Given the description of an element on the screen output the (x, y) to click on. 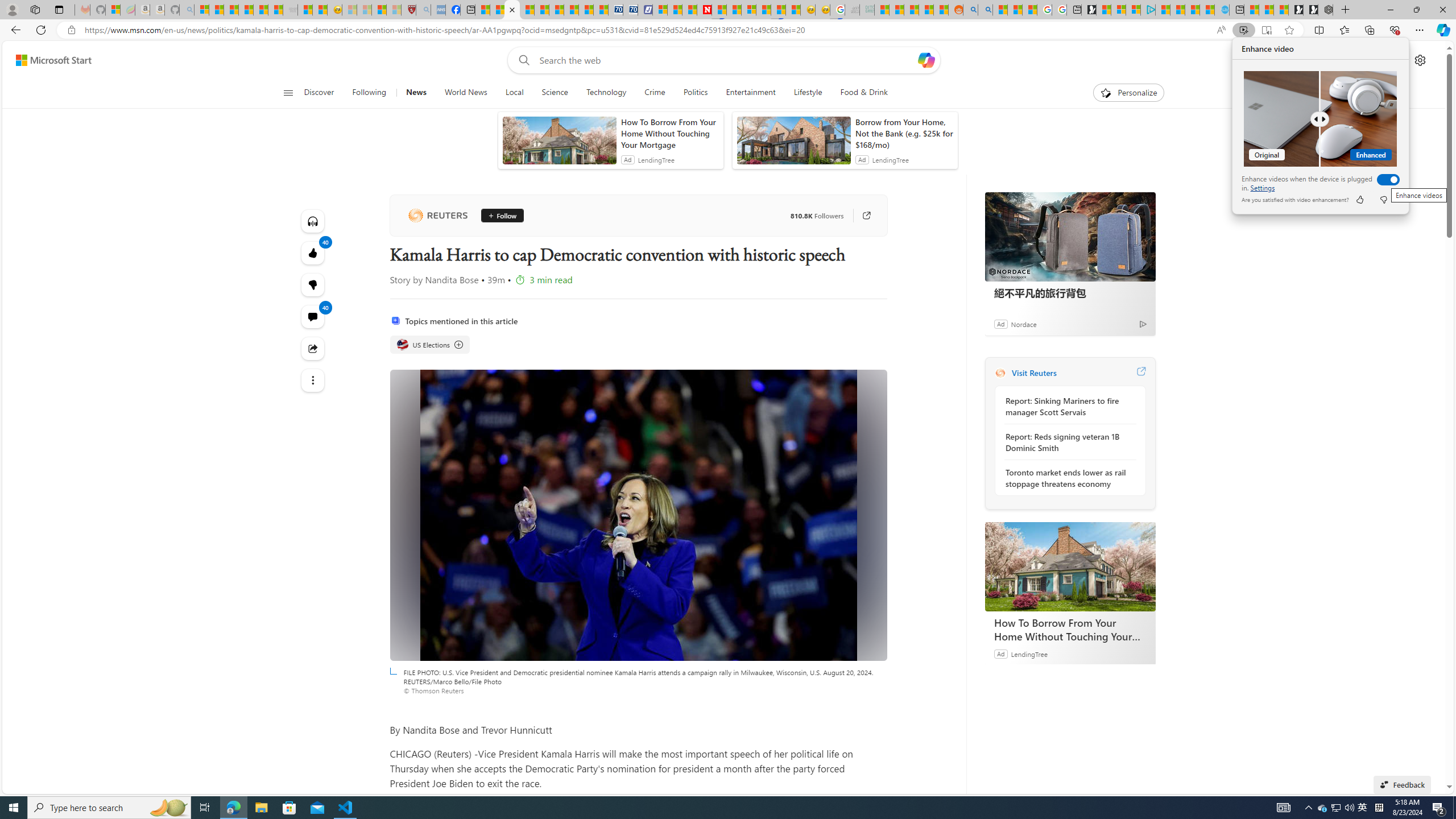
Student Loan Update: Forgiveness Program Ends This Month (926, 9)
Entertainment (750, 92)
US Elections (430, 344)
Utah sues federal government - Search (984, 9)
Nordace (1023, 323)
Microsoft Start (53, 60)
The Weather Channel - MSN (230, 9)
Settings (1262, 187)
